Given the description of an element on the screen output the (x, y) to click on. 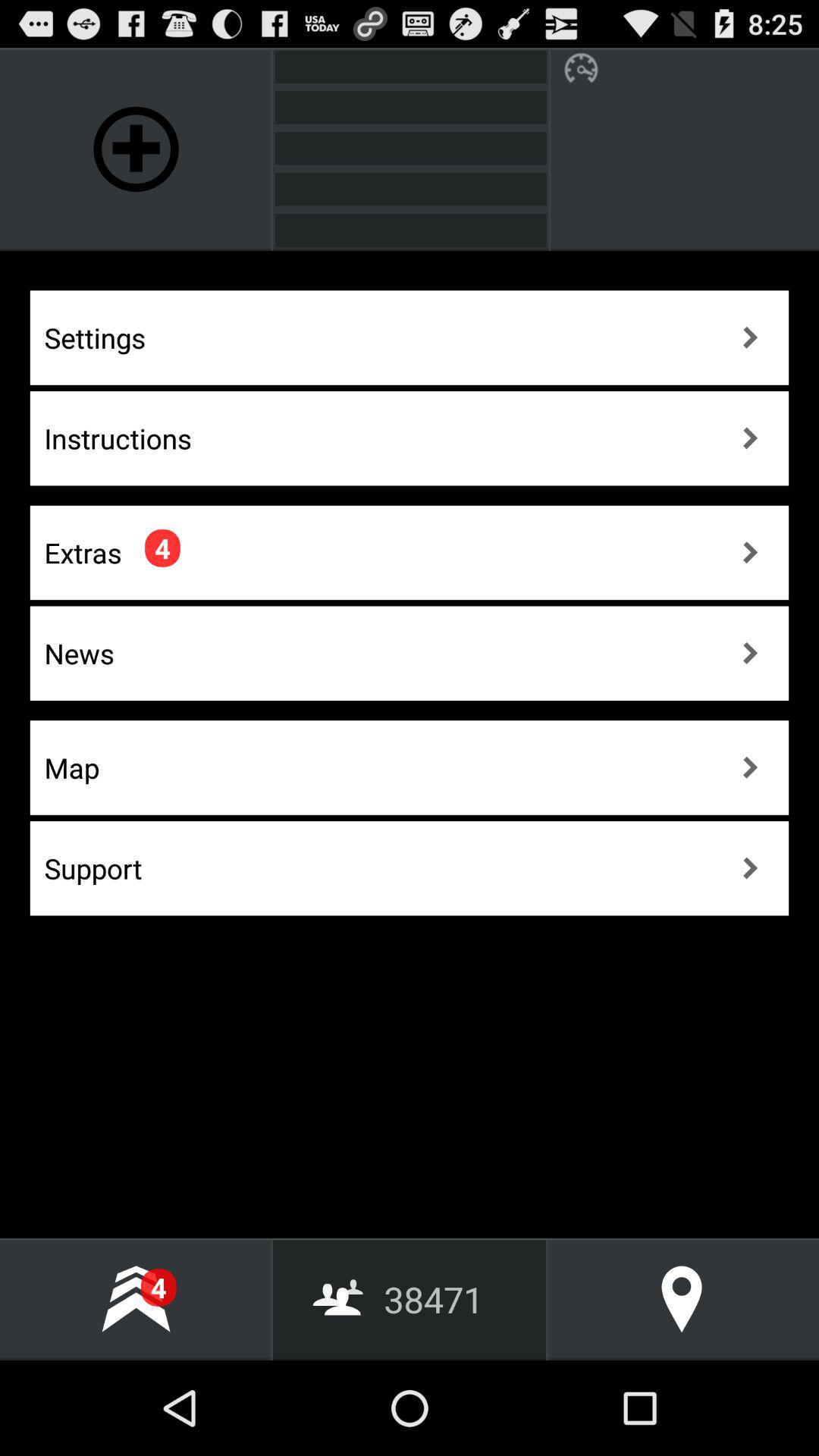
click on location pin which is at bottom right corner of the page (681, 1299)
click on the button below settings (409, 438)
click on the icon to the bottom left corner (135, 1299)
click on the button which is above the support (409, 767)
click on the button which is above the settings (136, 148)
